Given the description of an element on the screen output the (x, y) to click on. 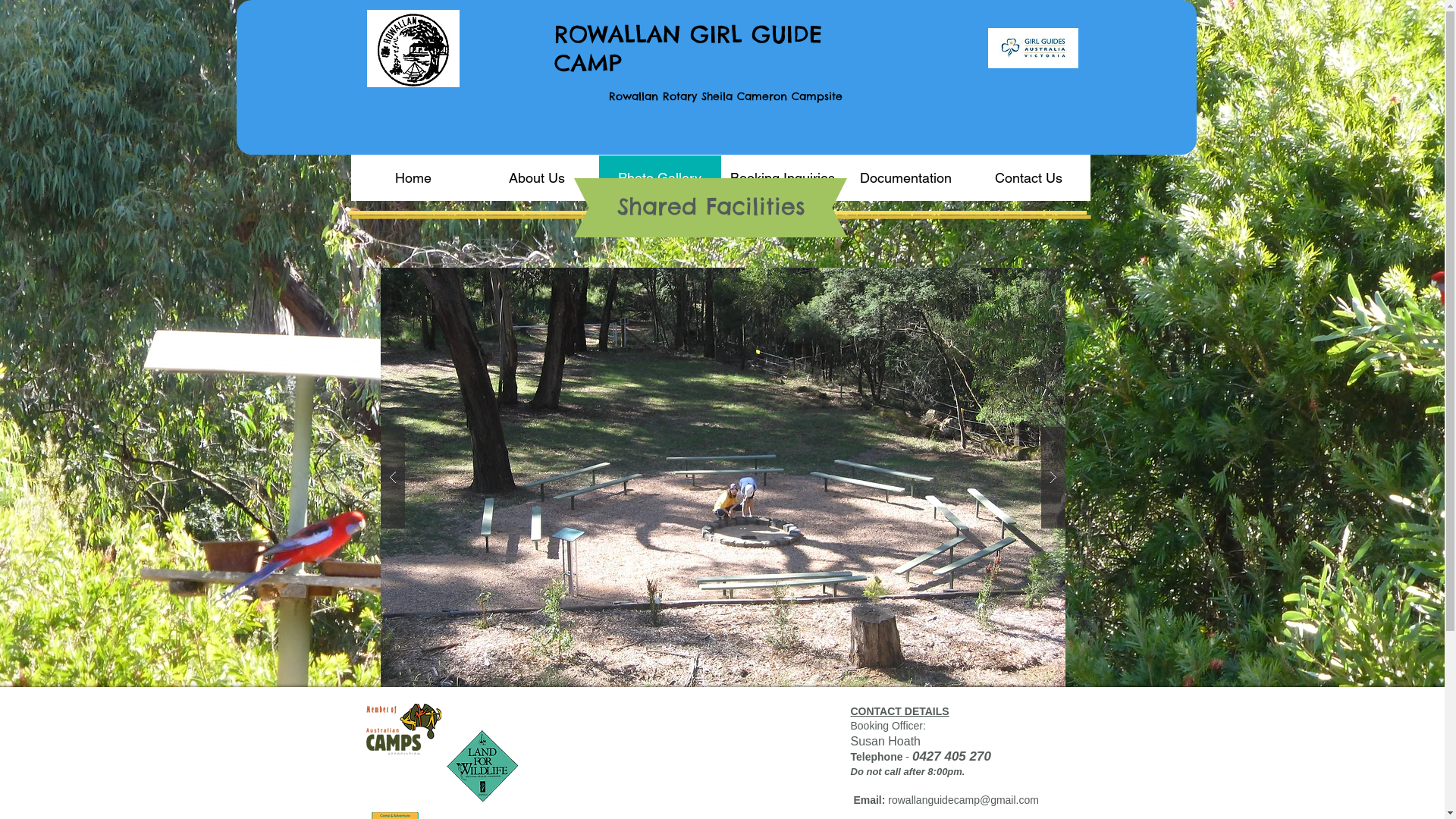
Booking Inquiries Element type: text (781, 177)
About Us Element type: text (535, 177)
Home Element type: text (413, 177)
Photo Gallery Element type: text (658, 177)
Documentation Element type: text (904, 177)
Contact Us Element type: text (1027, 177)
rowallanguidecamp@gmail.com Element type: text (963, 799)
